Given the description of an element on the screen output the (x, y) to click on. 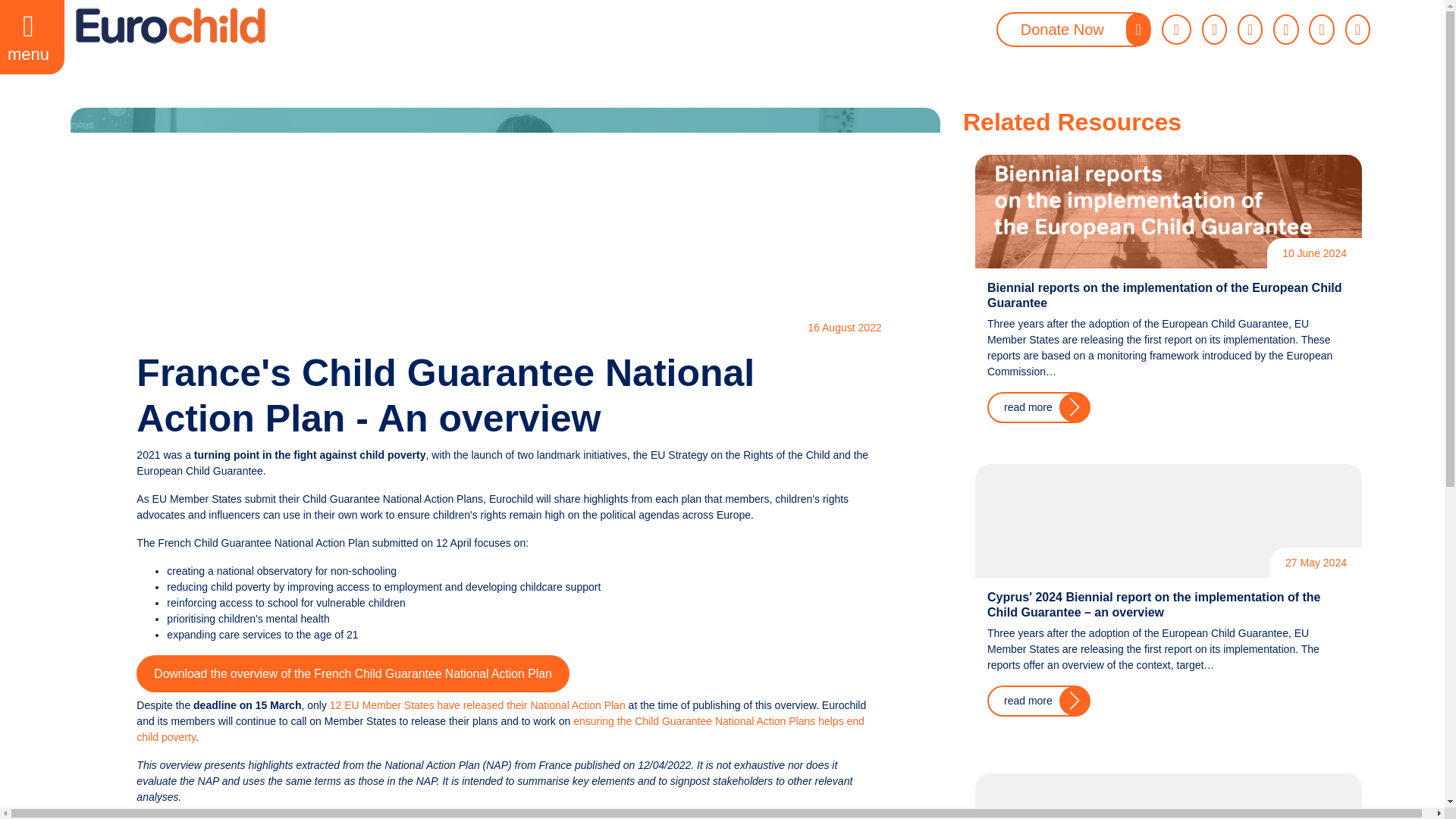
Eurochild (169, 25)
read more (1038, 407)
Donate Now (1073, 29)
12 EU Member States have released their National Action Plan (478, 705)
read more (1038, 700)
